Given the description of an element on the screen output the (x, y) to click on. 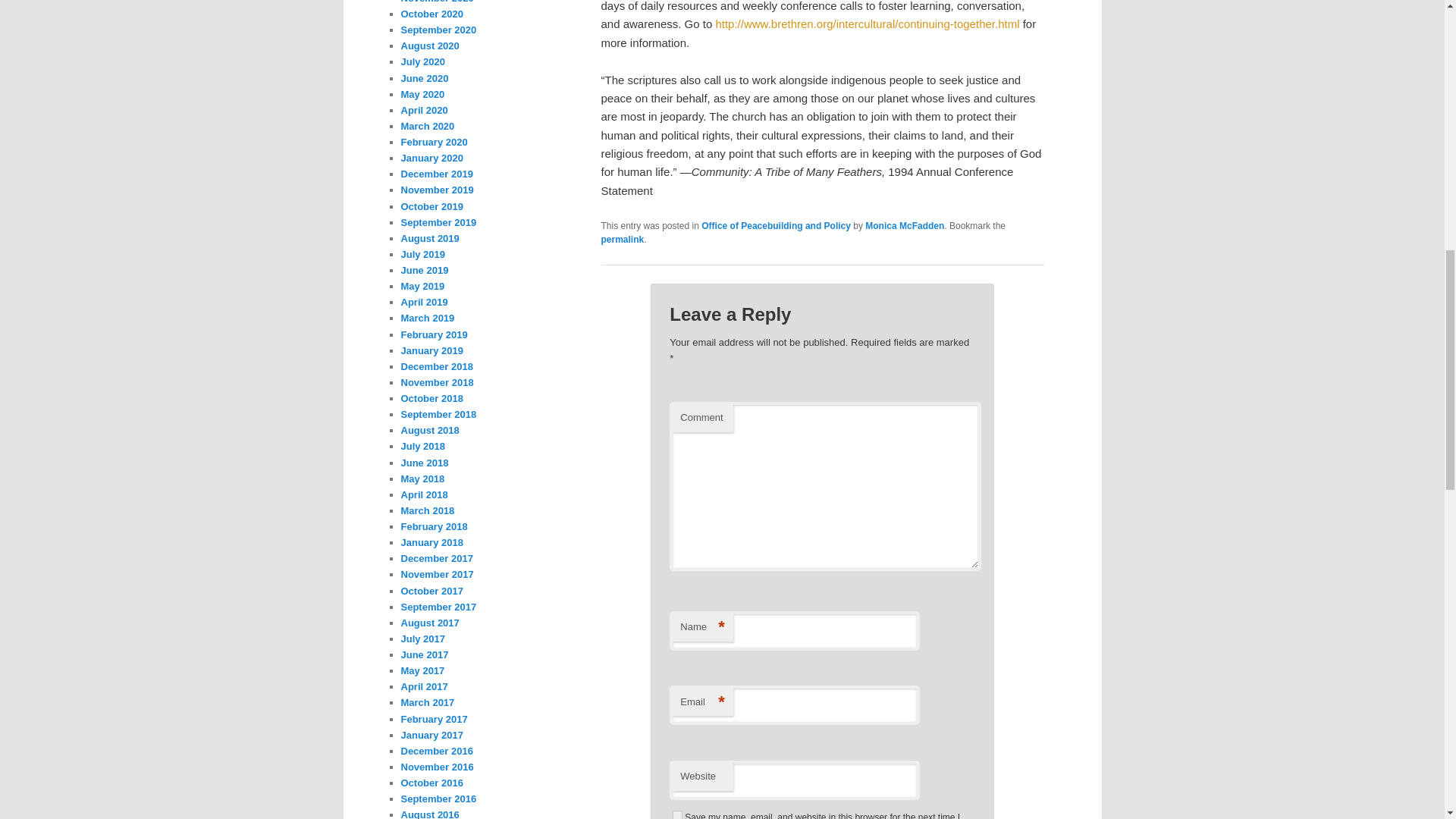
yes (677, 814)
permalink (621, 239)
Office of Peacebuilding and Policy (775, 225)
Monica McFadden (903, 225)
